Given the description of an element on the screen output the (x, y) to click on. 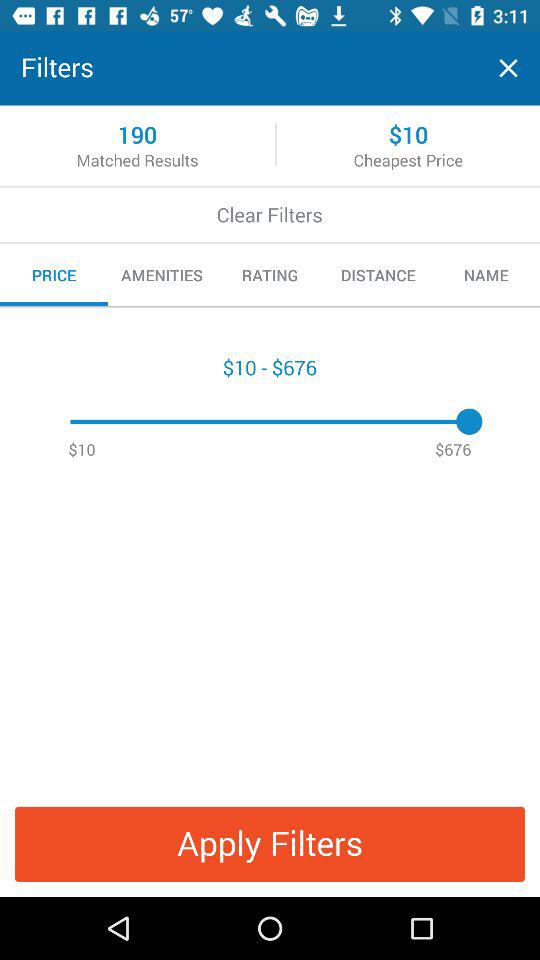
launch the amenities icon (162, 275)
